Given the description of an element on the screen output the (x, y) to click on. 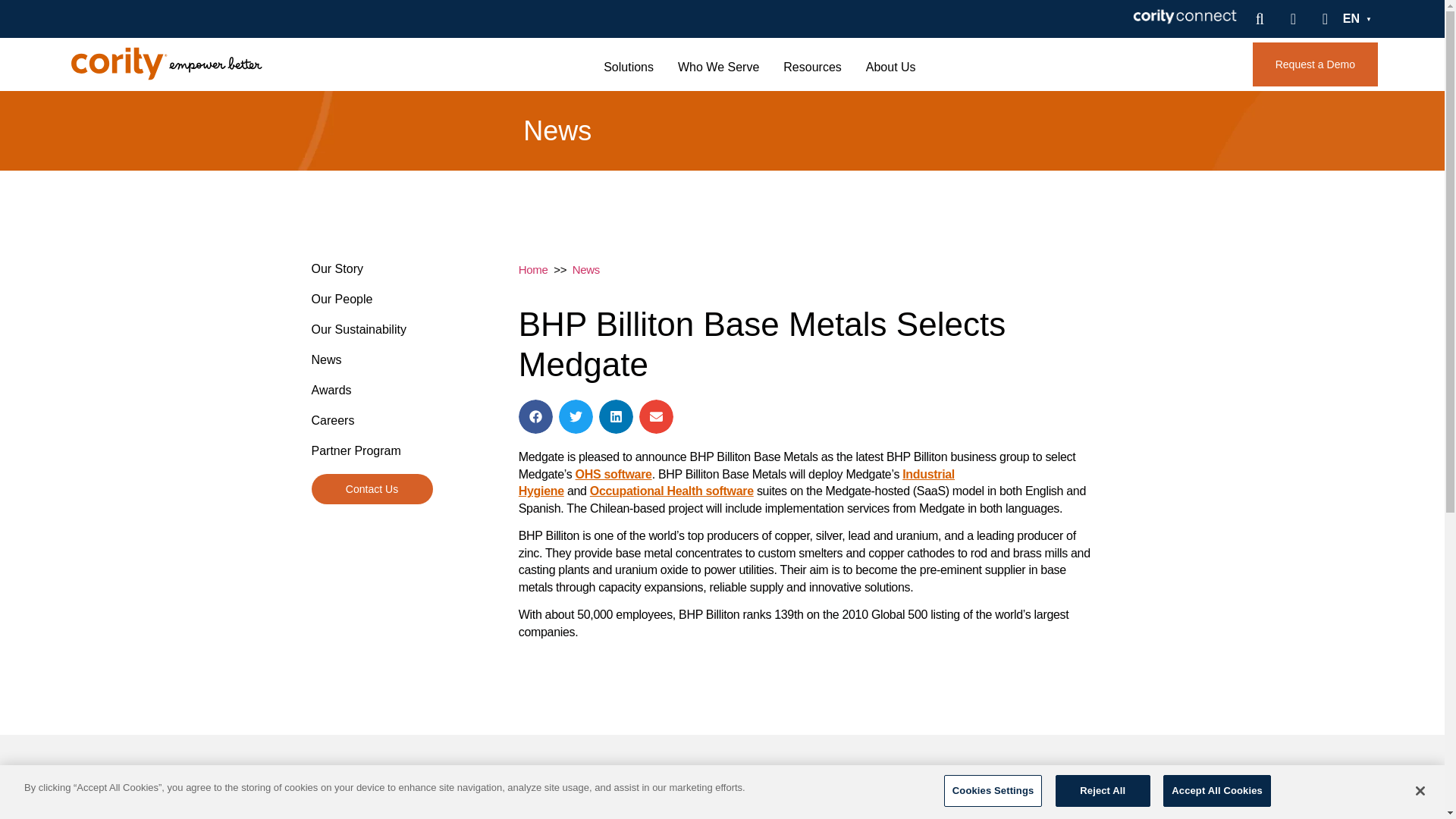
Cority Connect 2023 (1185, 18)
EN (1356, 19)
English (1356, 19)
Solutions (628, 67)
